Given the description of an element on the screen output the (x, y) to click on. 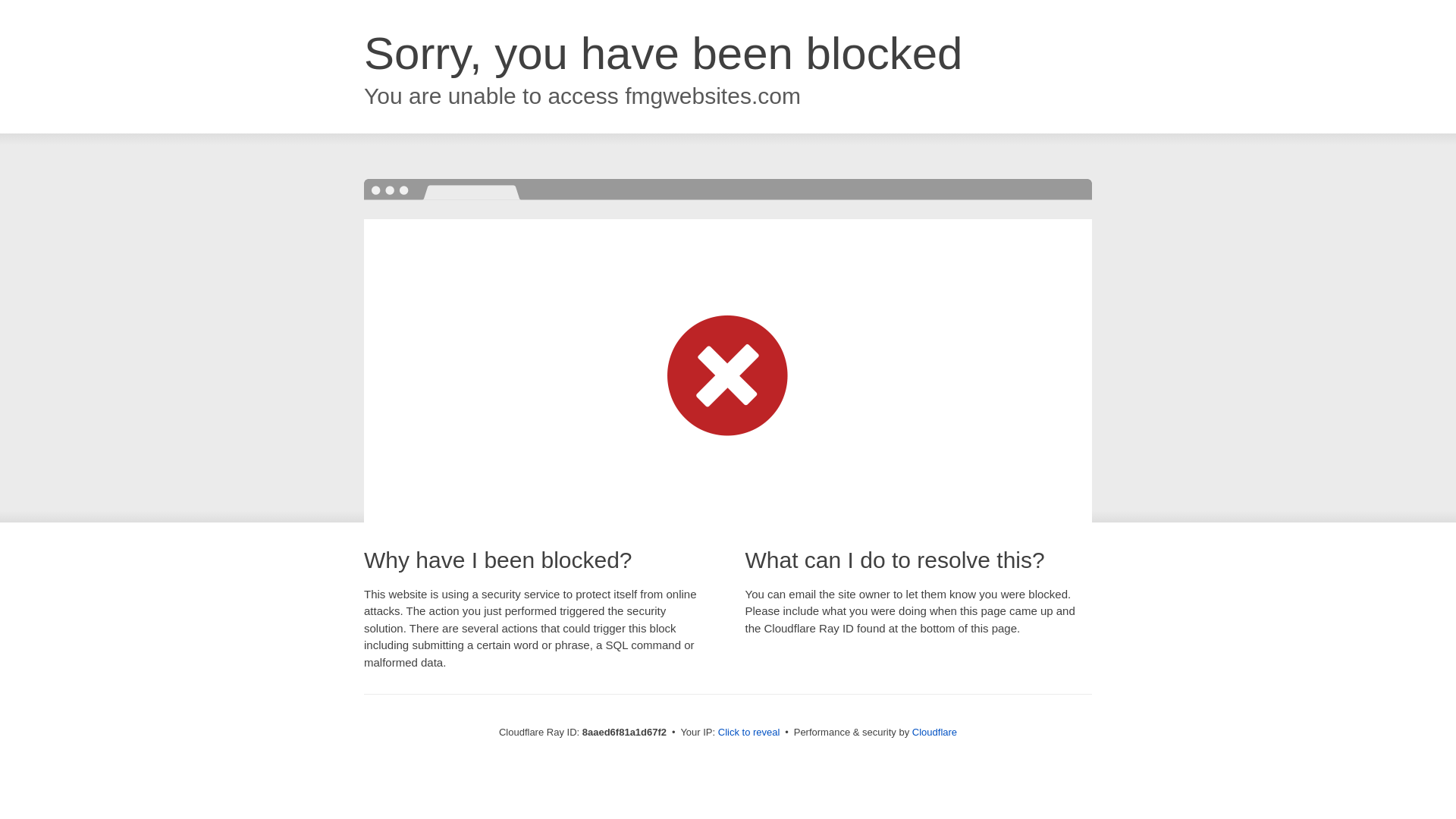
Cloudflare (934, 731)
Click to reveal (748, 732)
